Given the description of an element on the screen output the (x, y) to click on. 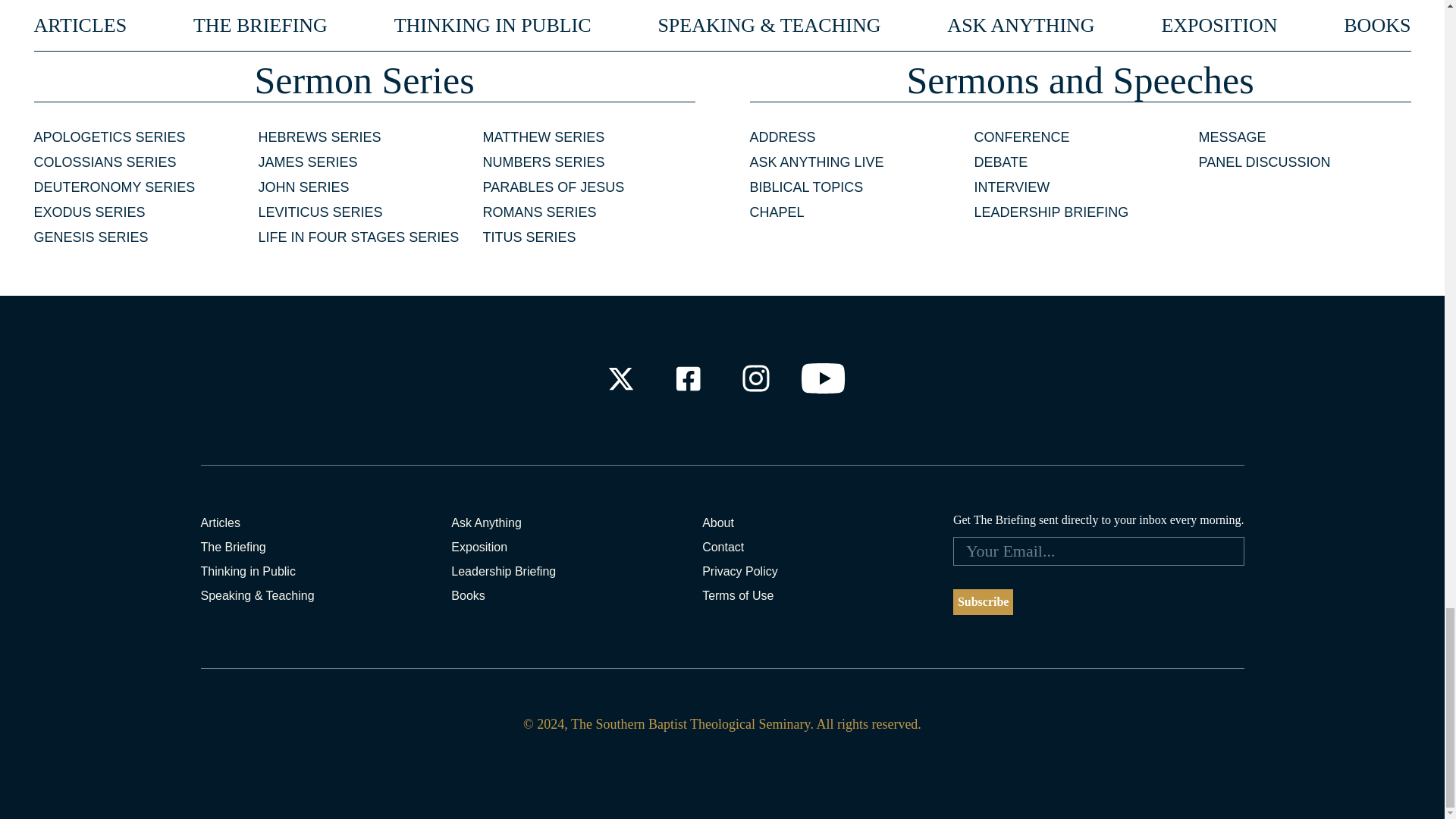
Subscribe (983, 601)
Check out our Instagram Profile (755, 378)
Check out our Youtube Channel (822, 378)
Check out our Facebook Profile (687, 378)
Check out our X Profile (620, 378)
